Given the description of an element on the screen output the (x, y) to click on. 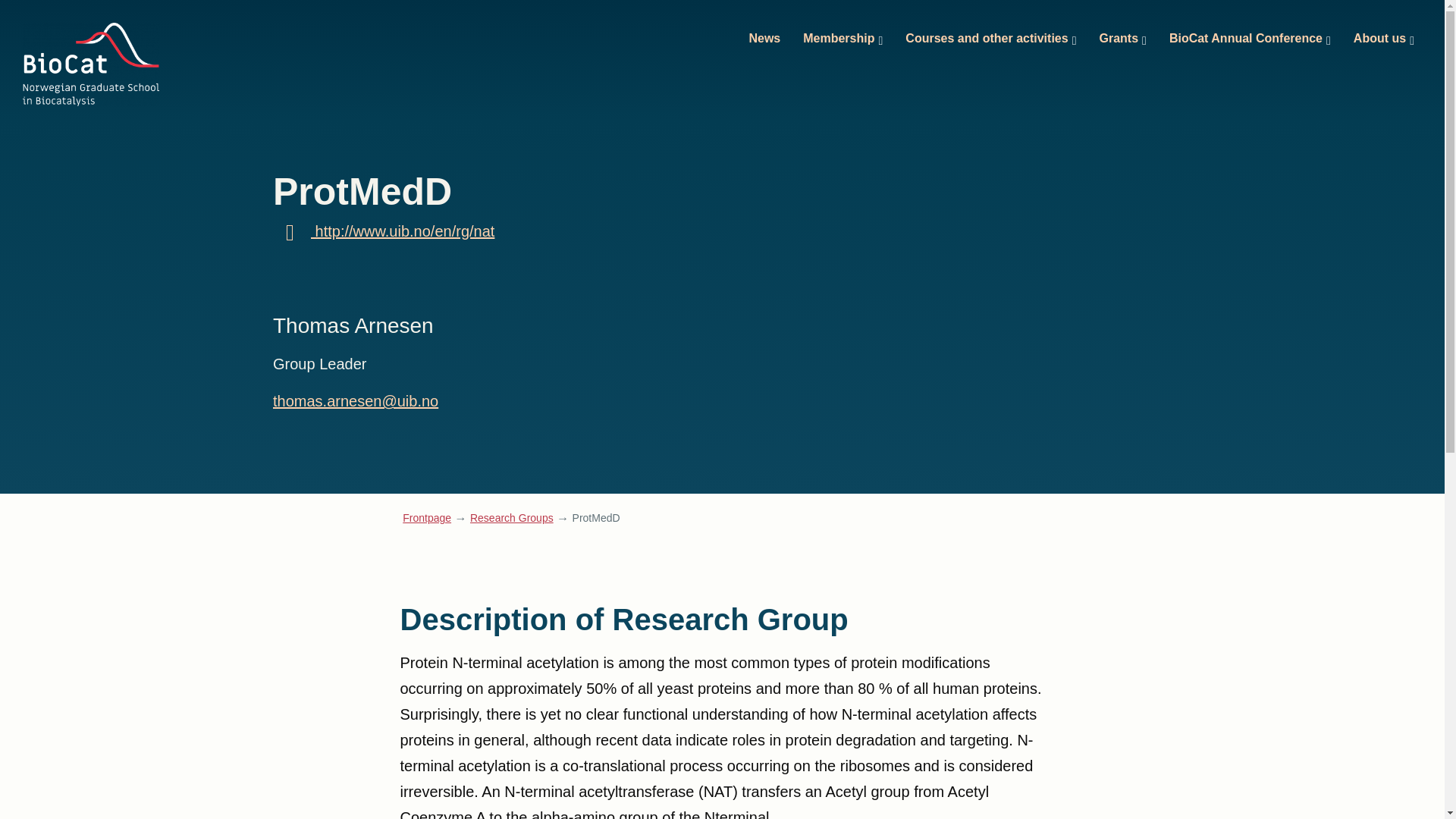
Go to Biocat. (427, 517)
Go to Research Groups. (511, 517)
Biocat (90, 64)
